Given the description of an element on the screen output the (x, y) to click on. 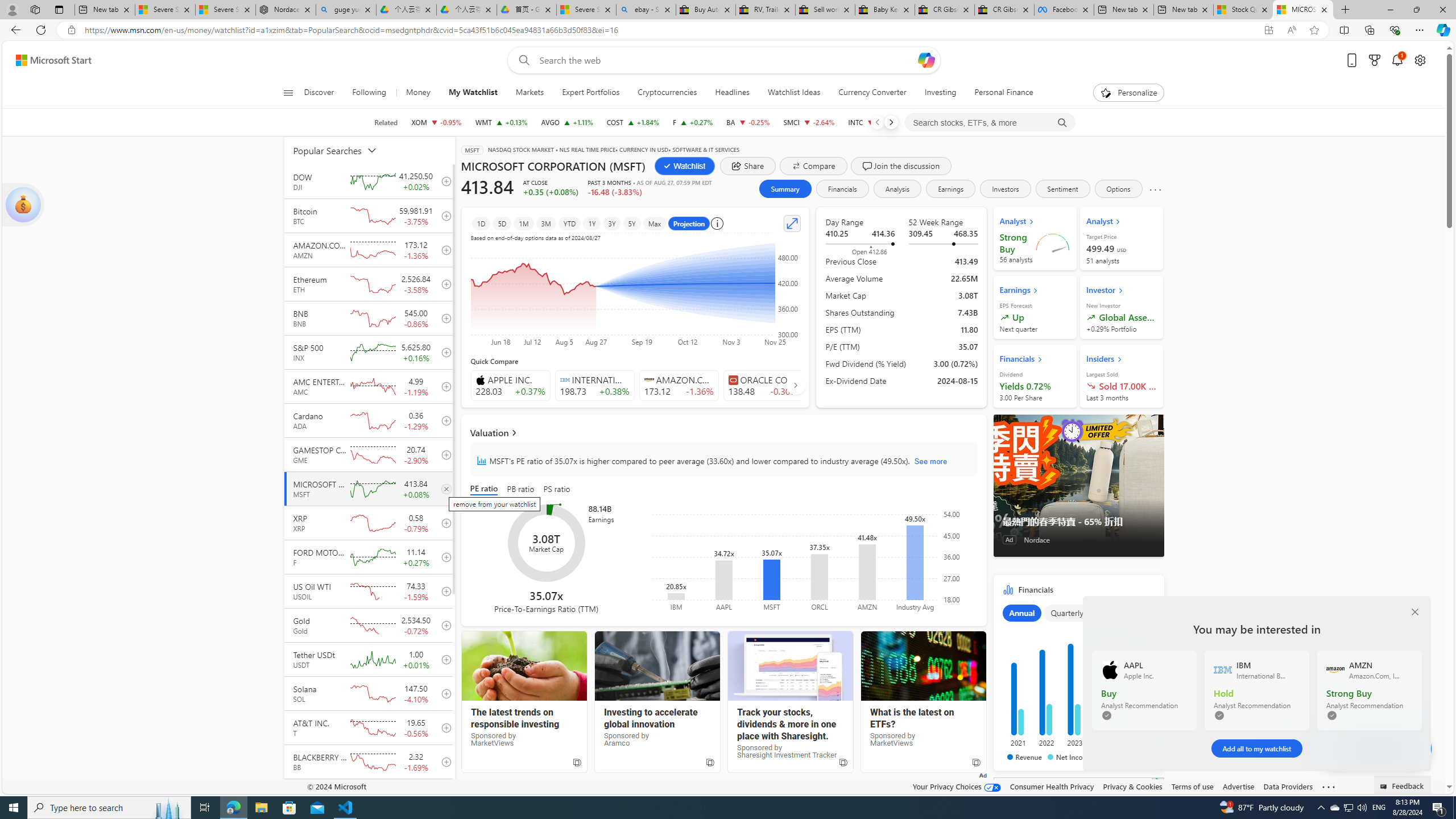
Personal Finance (999, 92)
Valuation (723, 432)
Advertise (1238, 786)
Facebook (1064, 9)
Expert Portfolios (590, 92)
Class: qc-adchoices-link top-right  (1157, 781)
Microsoft rewards (1374, 60)
Class: autoSuggestIcon-DS-EntryPoint1-2 (733, 379)
Analysis (897, 188)
